Given the description of an element on the screen output the (x, y) to click on. 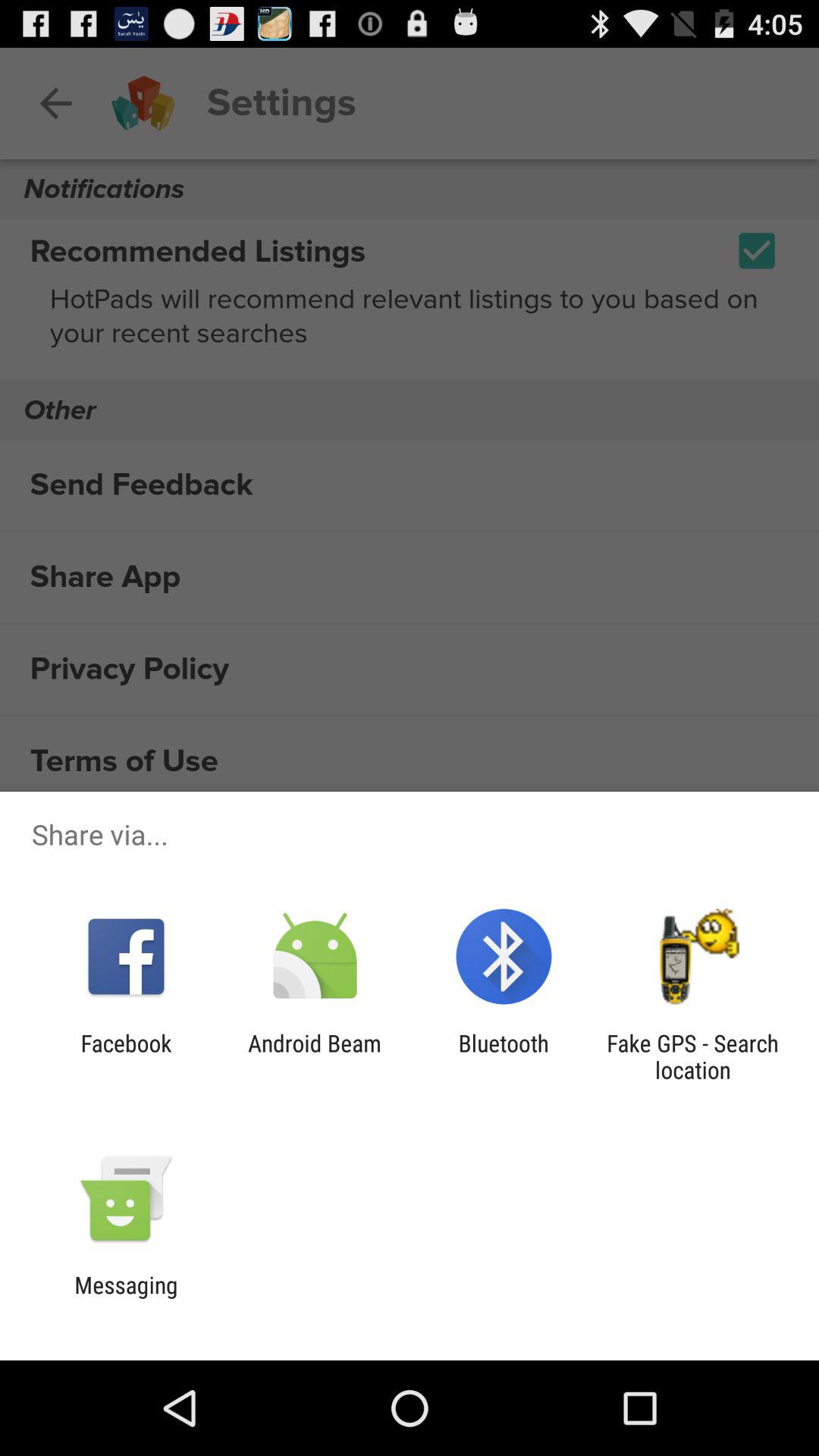
turn off the android beam (314, 1056)
